Given the description of an element on the screen output the (x, y) to click on. 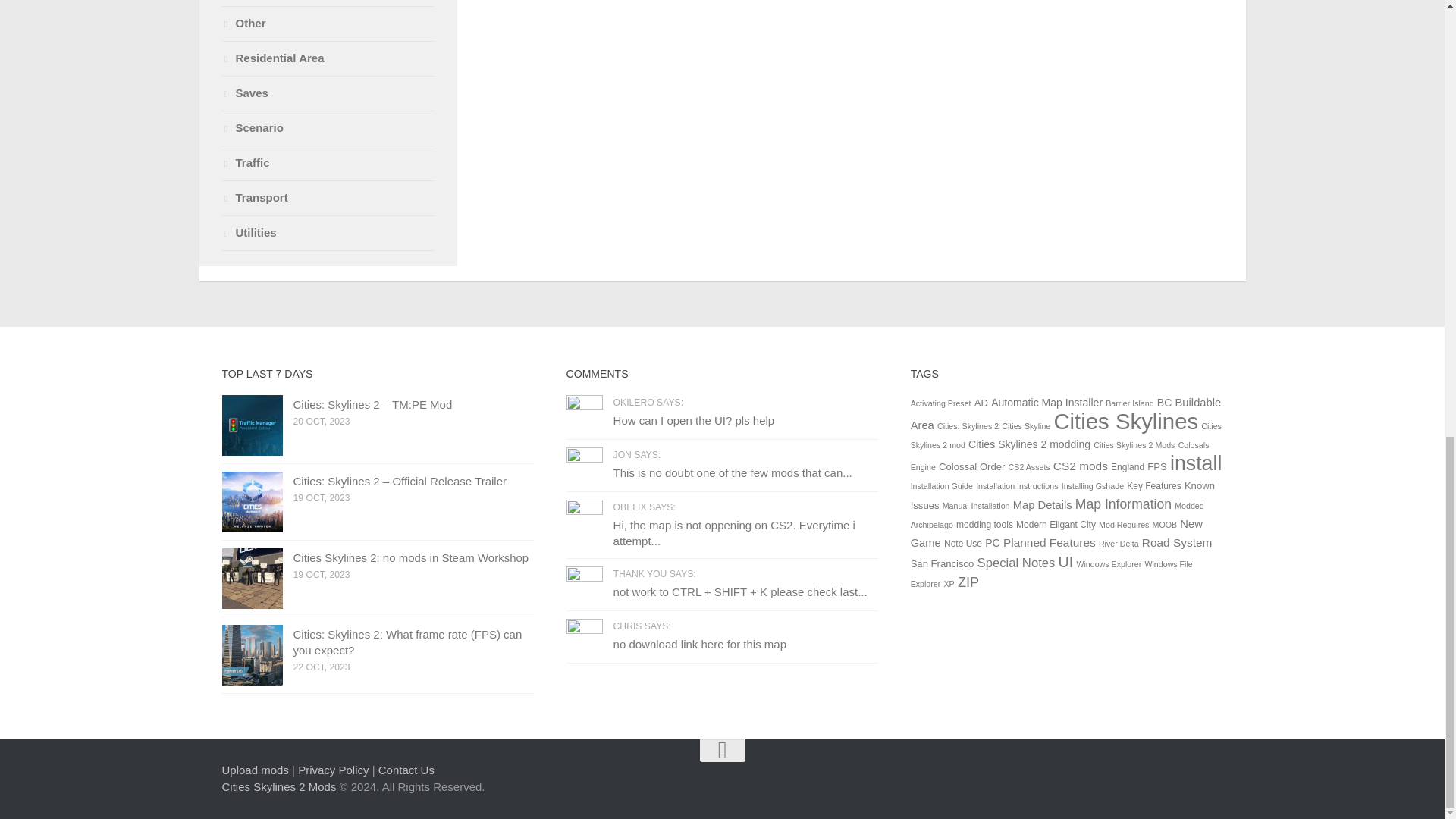
Cities Skylines 2: no mods in Steam Workshop (251, 578)
Cities Skylines 2: no mods in Steam Workshop (410, 557)
